Given the description of an element on the screen output the (x, y) to click on. 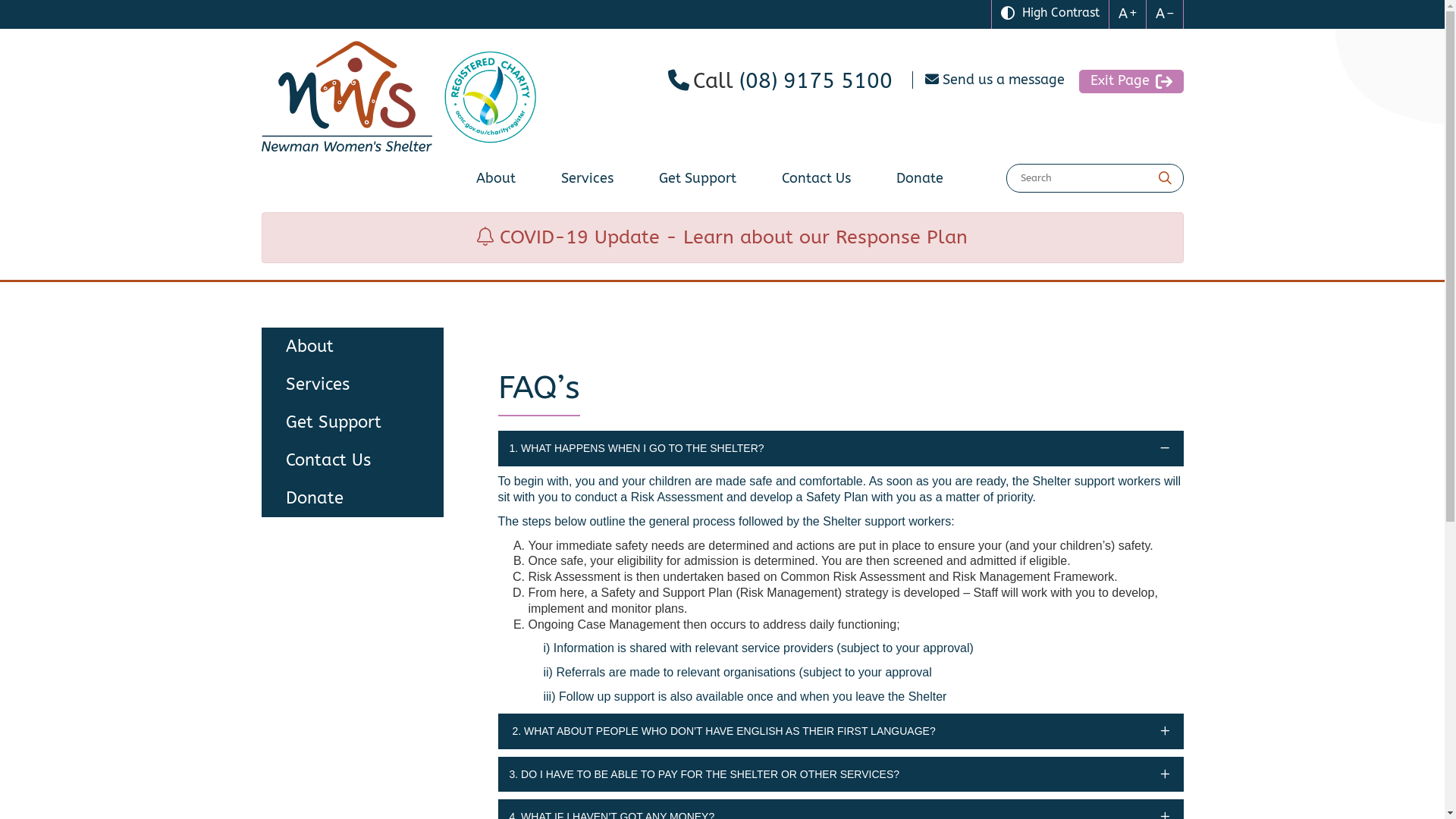
Donate Element type: text (919, 180)
About Element type: text (495, 180)
A Element type: text (1164, 14)
A Element type: text (1126, 14)
Newman Women's Shelter Element type: hover (345, 95)
Get Support Element type: text (351, 422)
Send us a message Element type: text (994, 80)
Get Support Element type: text (696, 180)
Donate Element type: text (351, 498)
COVID-19 Update - Learn about our Response Plan Element type: text (721, 236)
Contact Us Element type: text (351, 460)
Services Element type: text (351, 384)
(08) 9175 5100 Element type: text (814, 80)
High Contrast Element type: text (1049, 14)
About Element type: text (351, 346)
Exit Page Element type: text (1130, 81)
Contact Us Element type: text (815, 180)
Services Element type: text (587, 180)
